Given the description of an element on the screen output the (x, y) to click on. 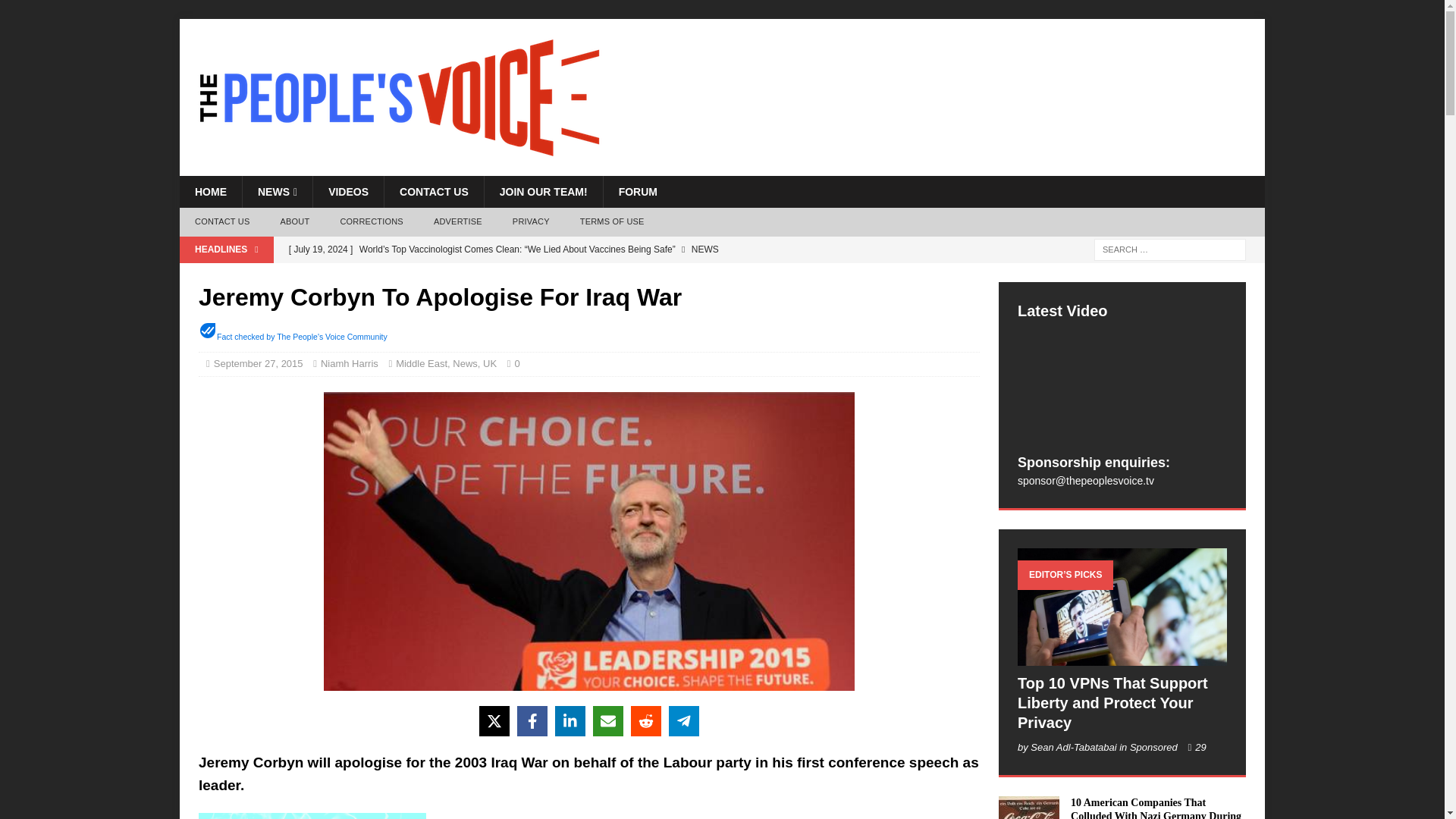
NEWS (277, 192)
Republicans Urge Kamala Harris To Announce VP Pick (583, 275)
PRIVACY (530, 222)
JOIN OUR TEAM! (542, 192)
HOME (210, 192)
CONTACT US (433, 192)
VIDEOS (348, 192)
CONTACT US (221, 222)
ABOUT (294, 222)
TERMS OF USE (611, 222)
CORRECTIONS (370, 222)
FORUM (637, 192)
ADVERTISE (458, 222)
